Given the description of an element on the screen output the (x, y) to click on. 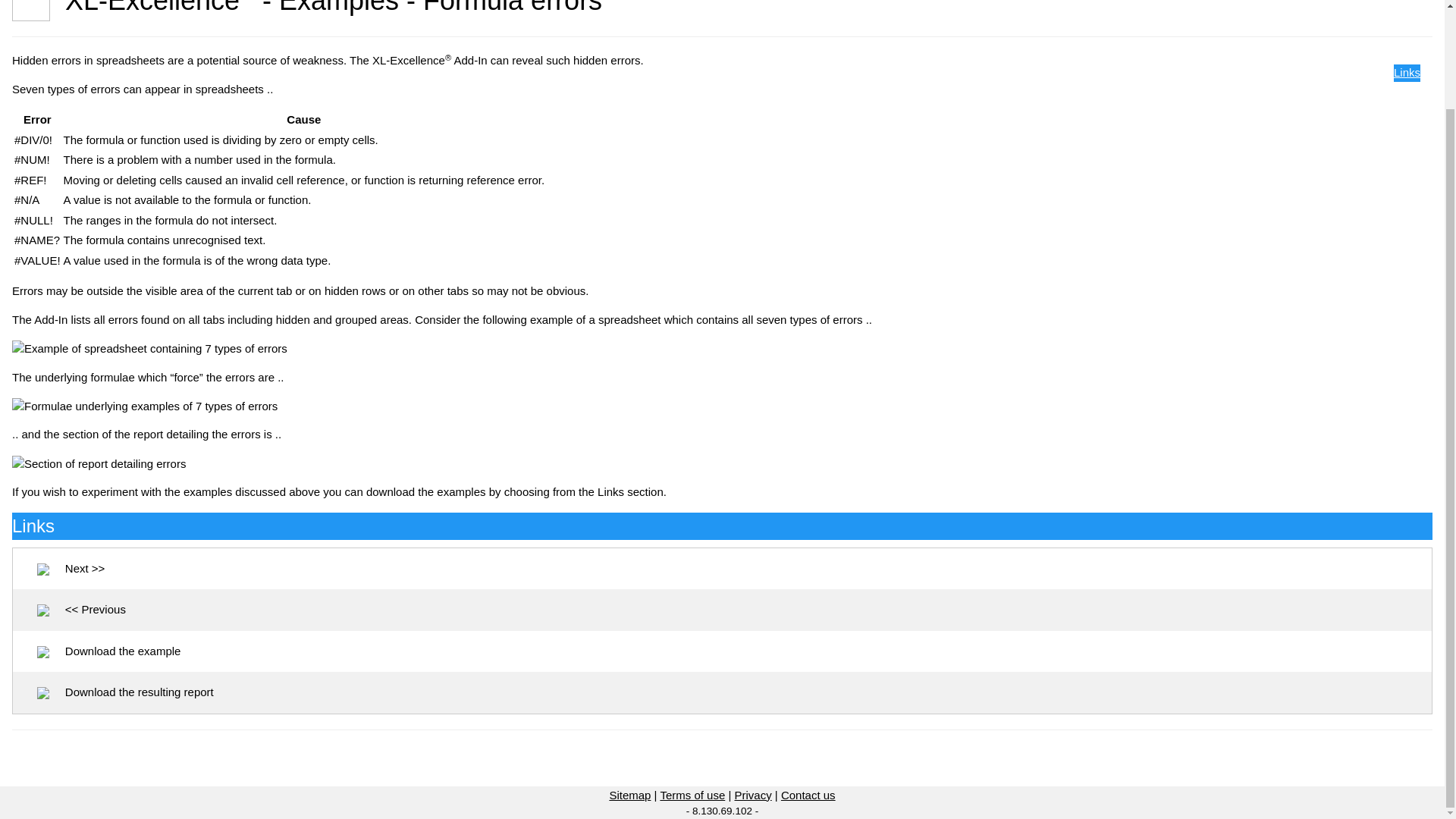
     Download the resulting report (125, 691)
Sitemap (629, 794)
Terms of use (692, 794)
Privacy (752, 794)
     Download the example (108, 650)
Contact us (807, 794)
Links (1407, 72)
